Given the description of an element on the screen output the (x, y) to click on. 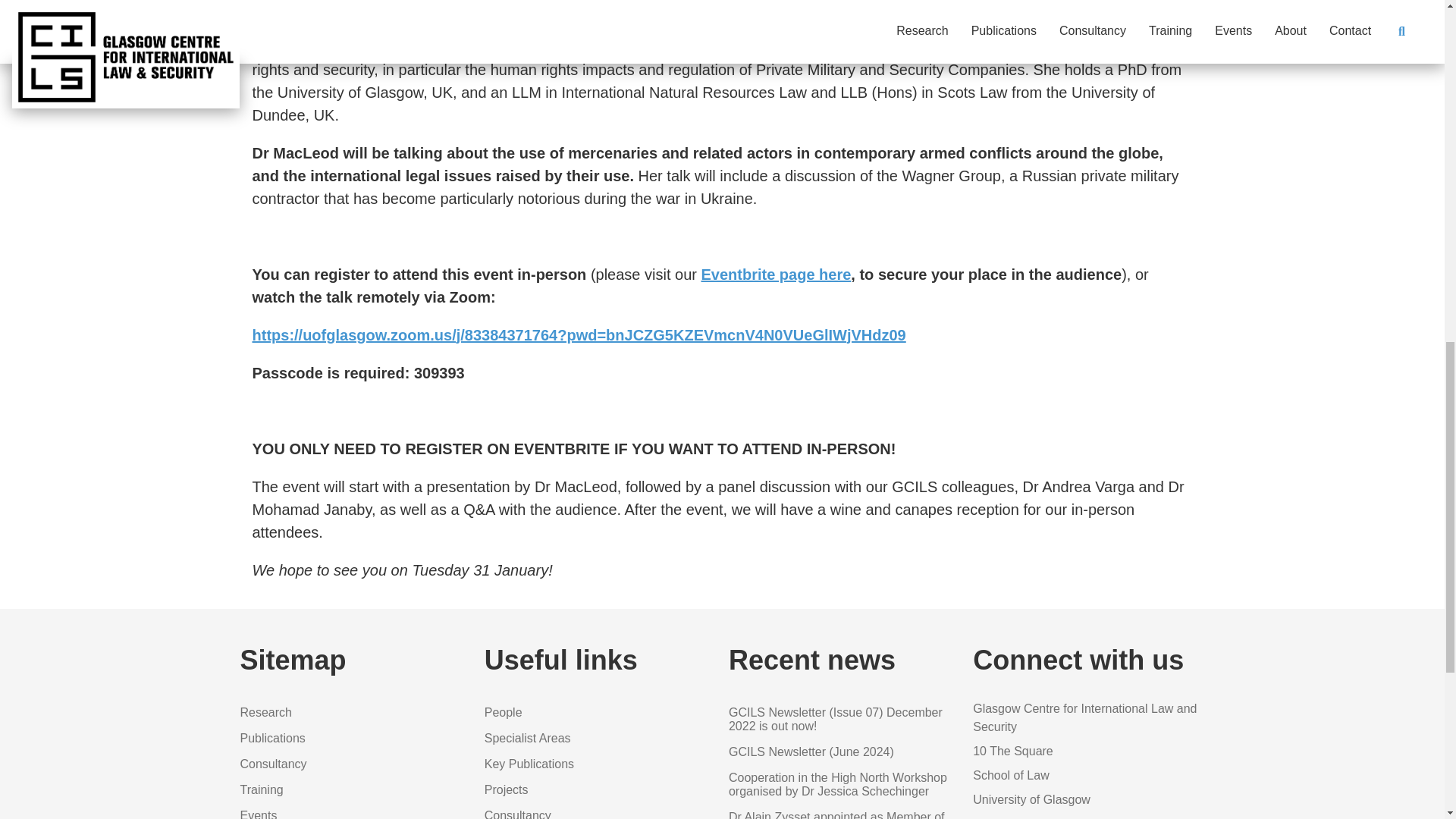
Key Publications (528, 763)
Consultancy (517, 814)
Projects (506, 789)
People (503, 712)
Consultancy (272, 763)
Training (261, 789)
Research (265, 712)
Dr MacLeod (294, 23)
Publications (272, 738)
Eventbrite page here (775, 274)
